Given the description of an element on the screen output the (x, y) to click on. 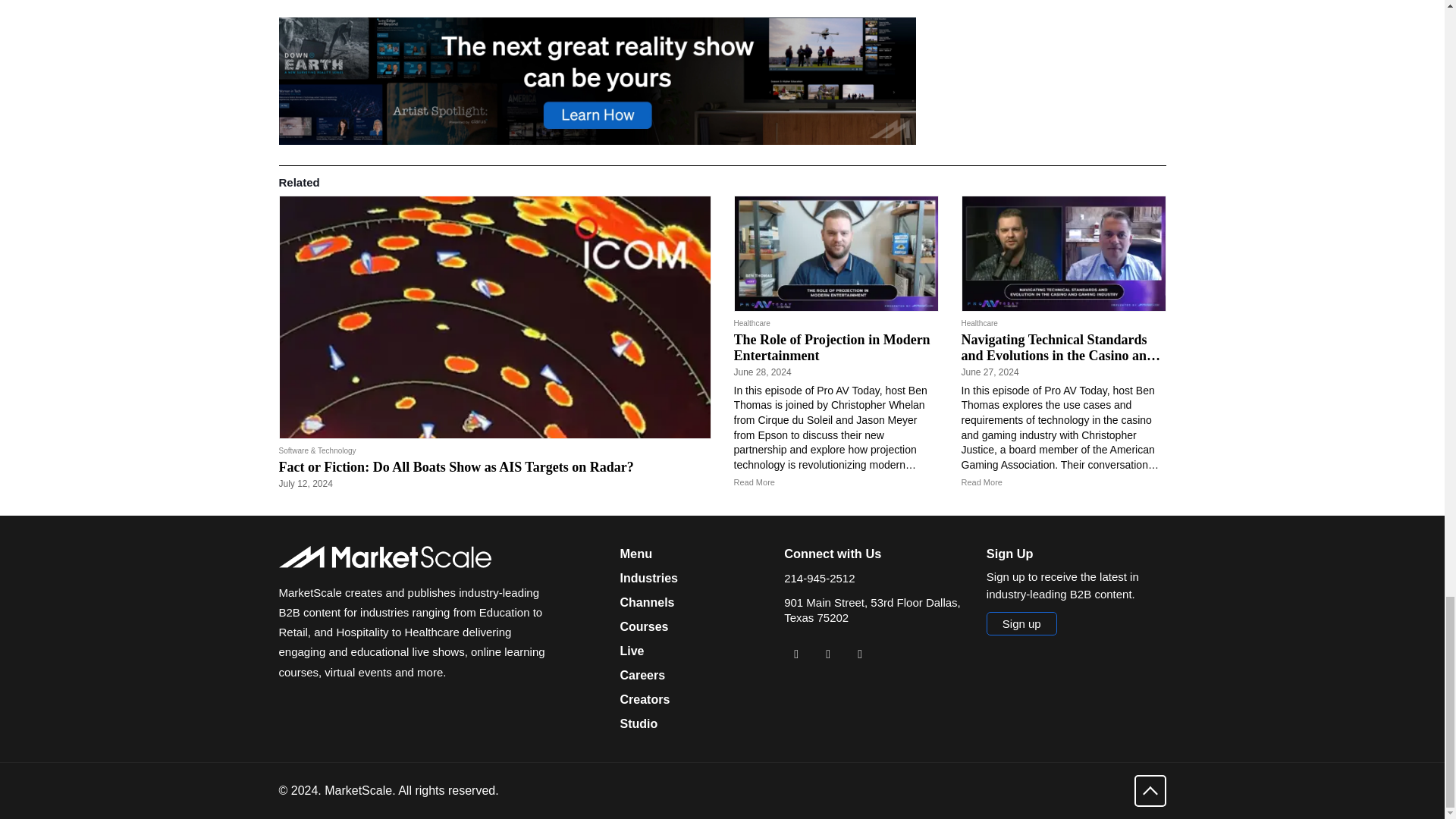
Share on X (827, 654)
Share on Linkedin (796, 654)
Share on Instagram (859, 654)
